Given the description of an element on the screen output the (x, y) to click on. 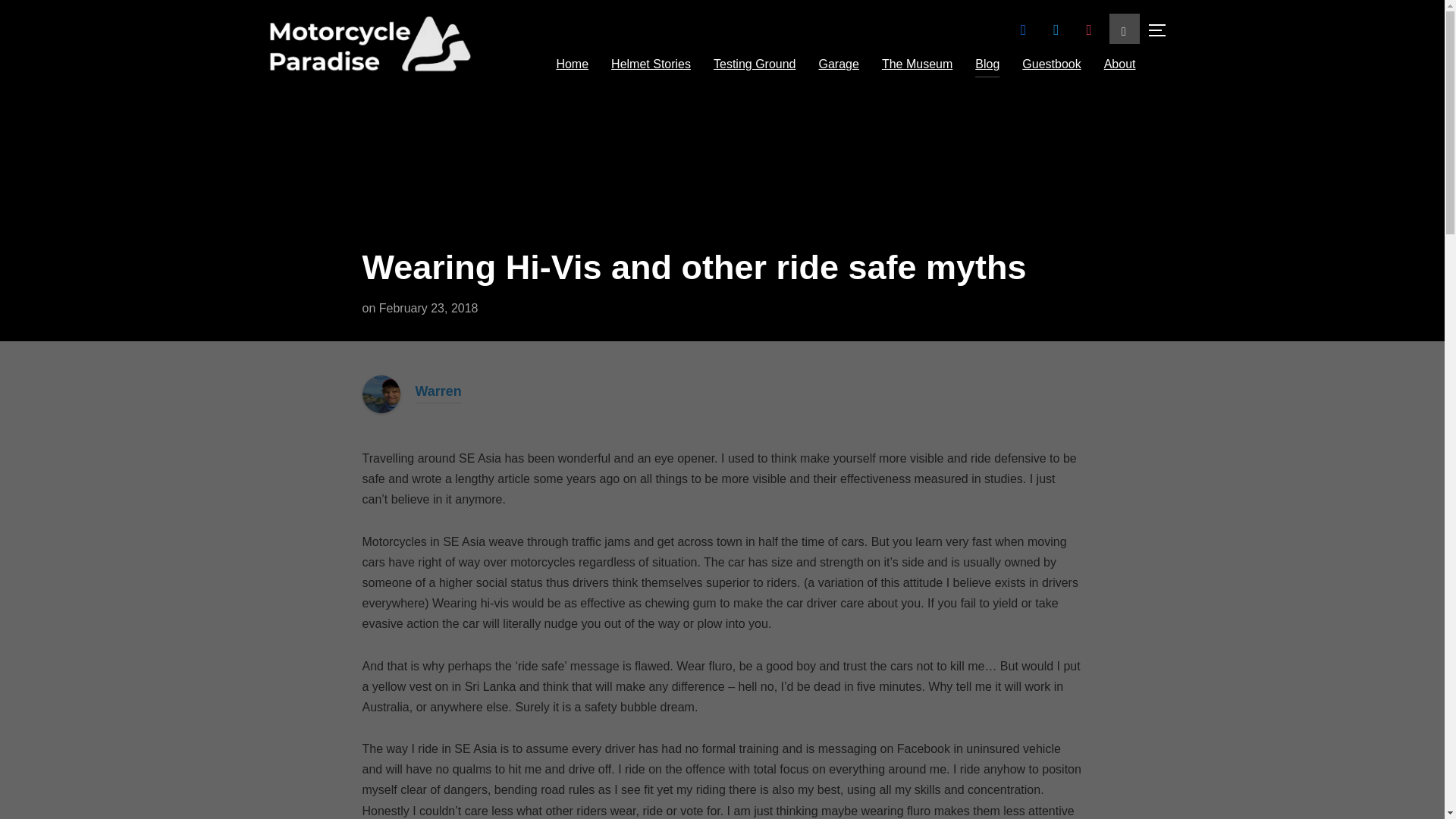
Facebook (1023, 29)
Instagram (1088, 29)
Warren (381, 385)
Twitter (1055, 29)
